Given the description of an element on the screen output the (x, y) to click on. 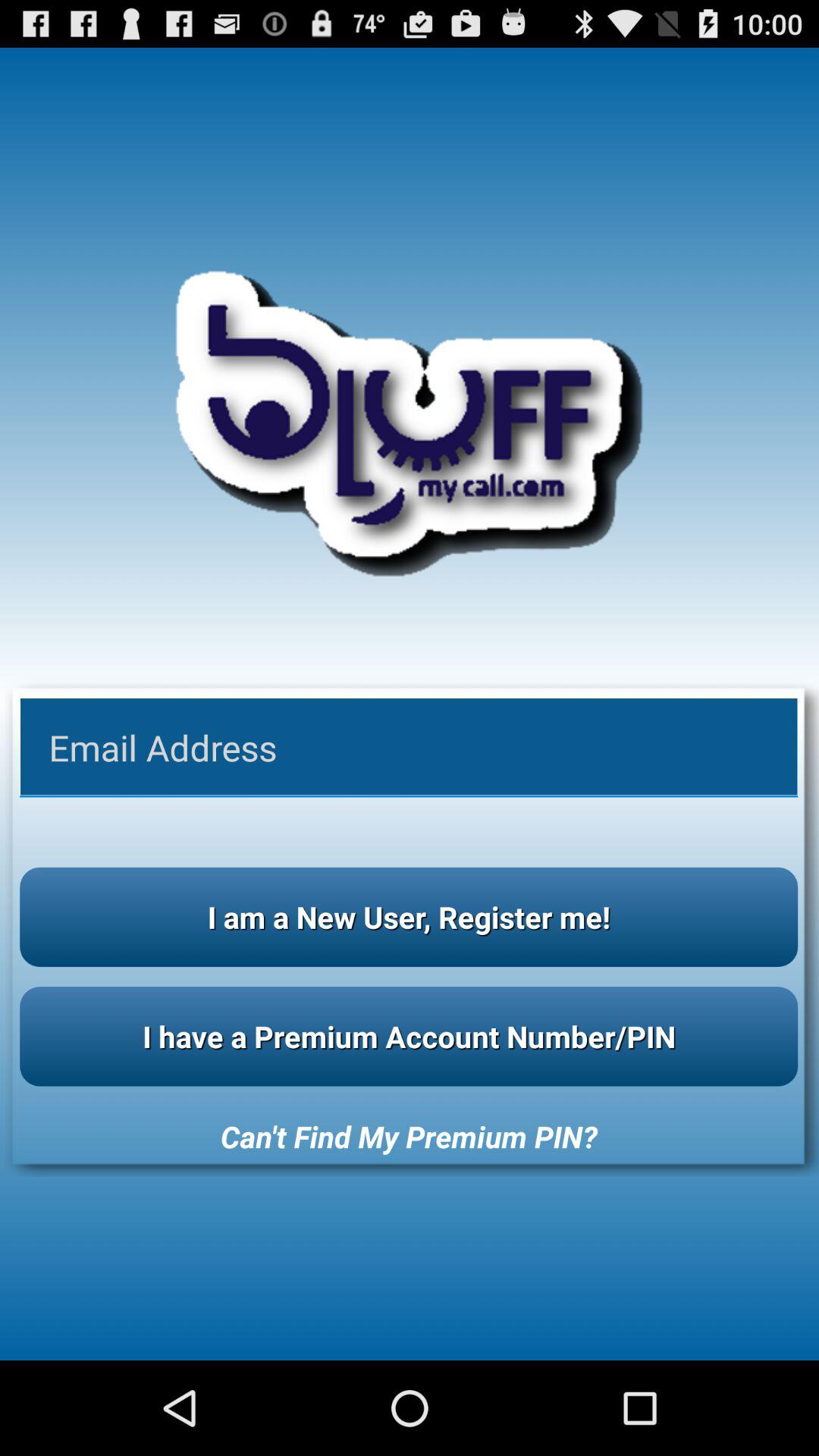
swipe to can t find app (408, 1136)
